Given the description of an element on the screen output the (x, y) to click on. 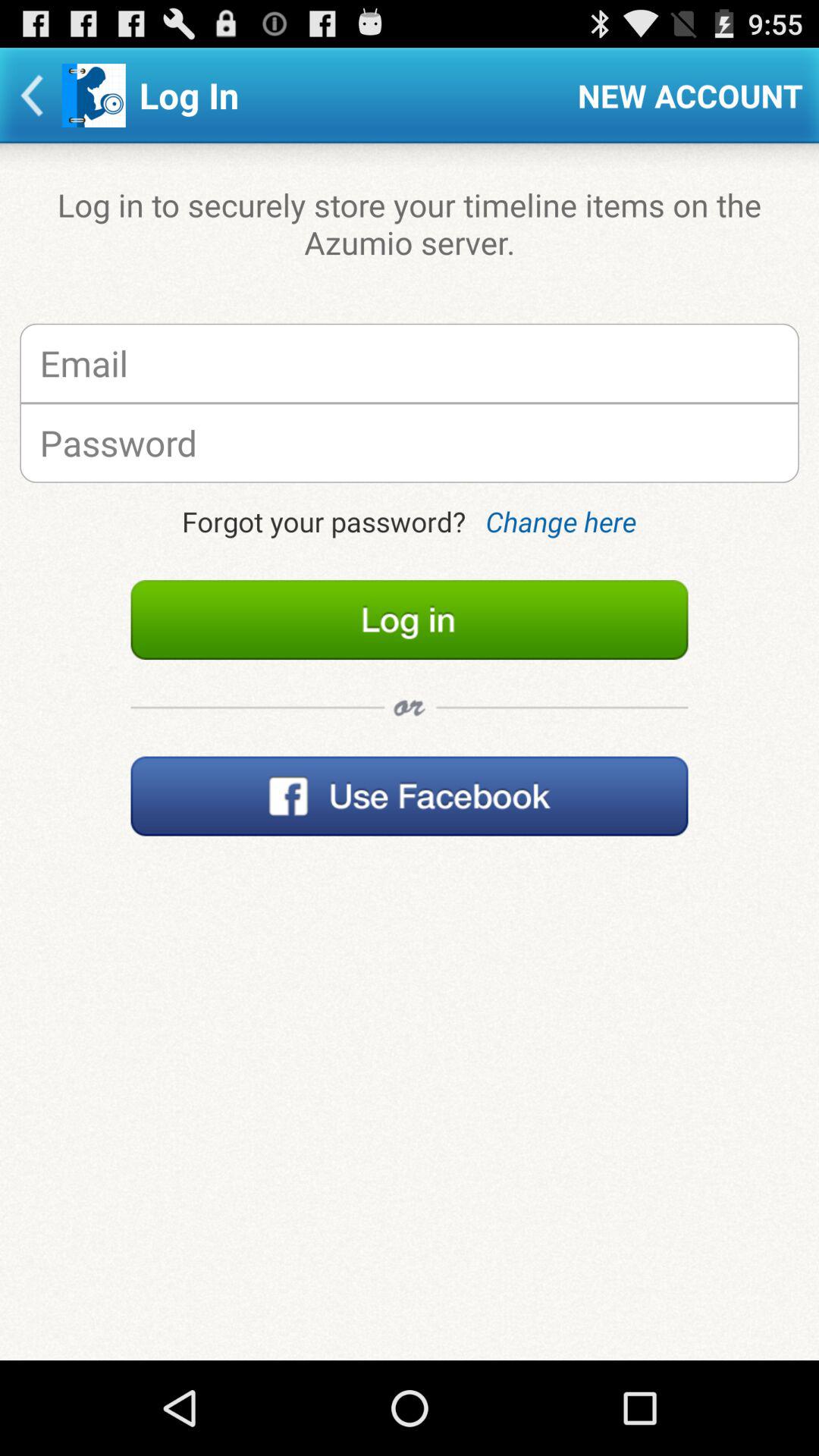
log in button (409, 619)
